Given the description of an element on the screen output the (x, y) to click on. 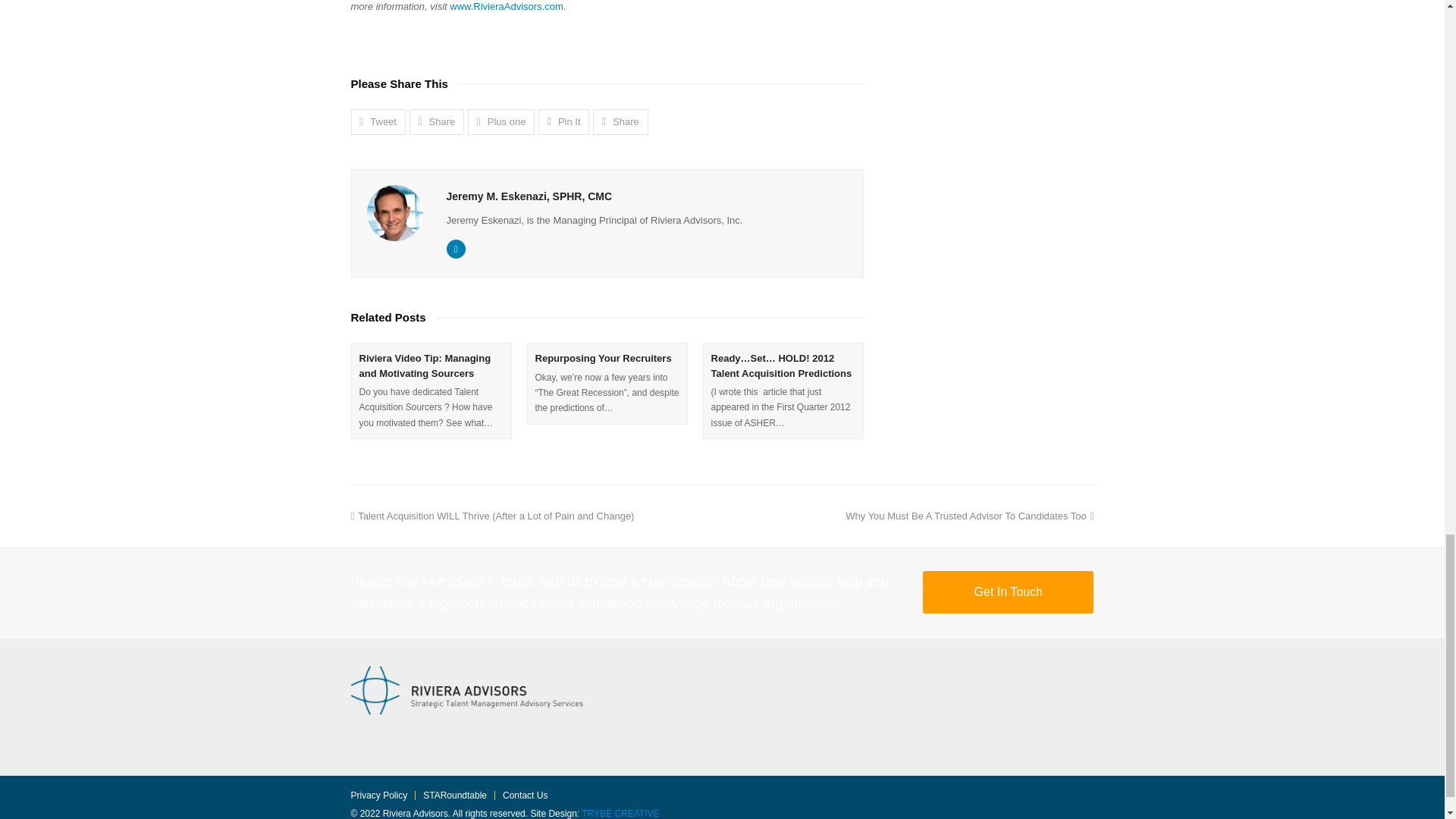
Share on LinkedIn (619, 121)
Share on Facebook (436, 121)
Share on Twitter (377, 121)
Share on Pinterest (563, 121)
